Given the description of an element on the screen output the (x, y) to click on. 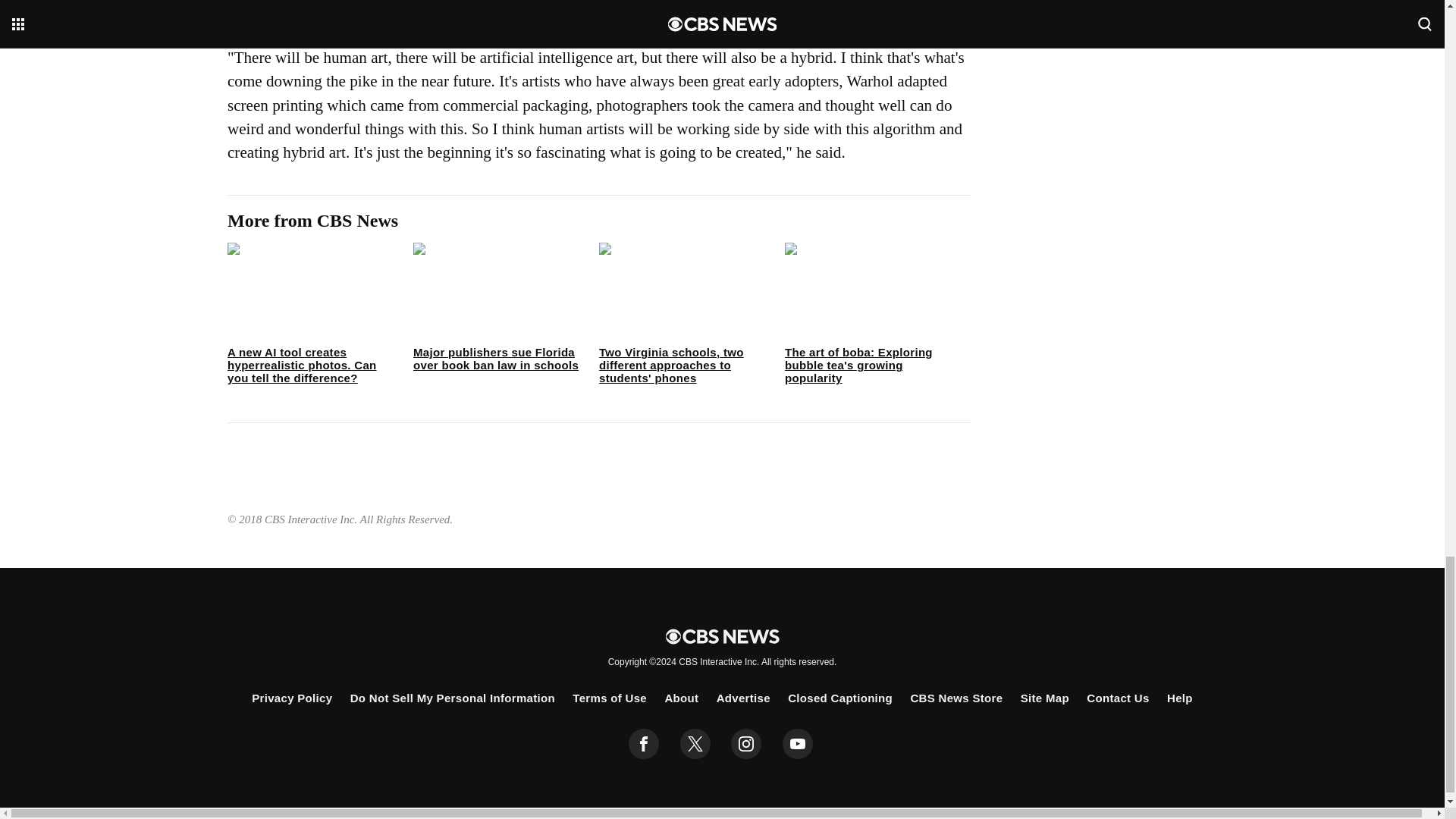
instagram (745, 743)
facebook (643, 743)
youtube (797, 743)
twitter (694, 743)
